Given the description of an element on the screen output the (x, y) to click on. 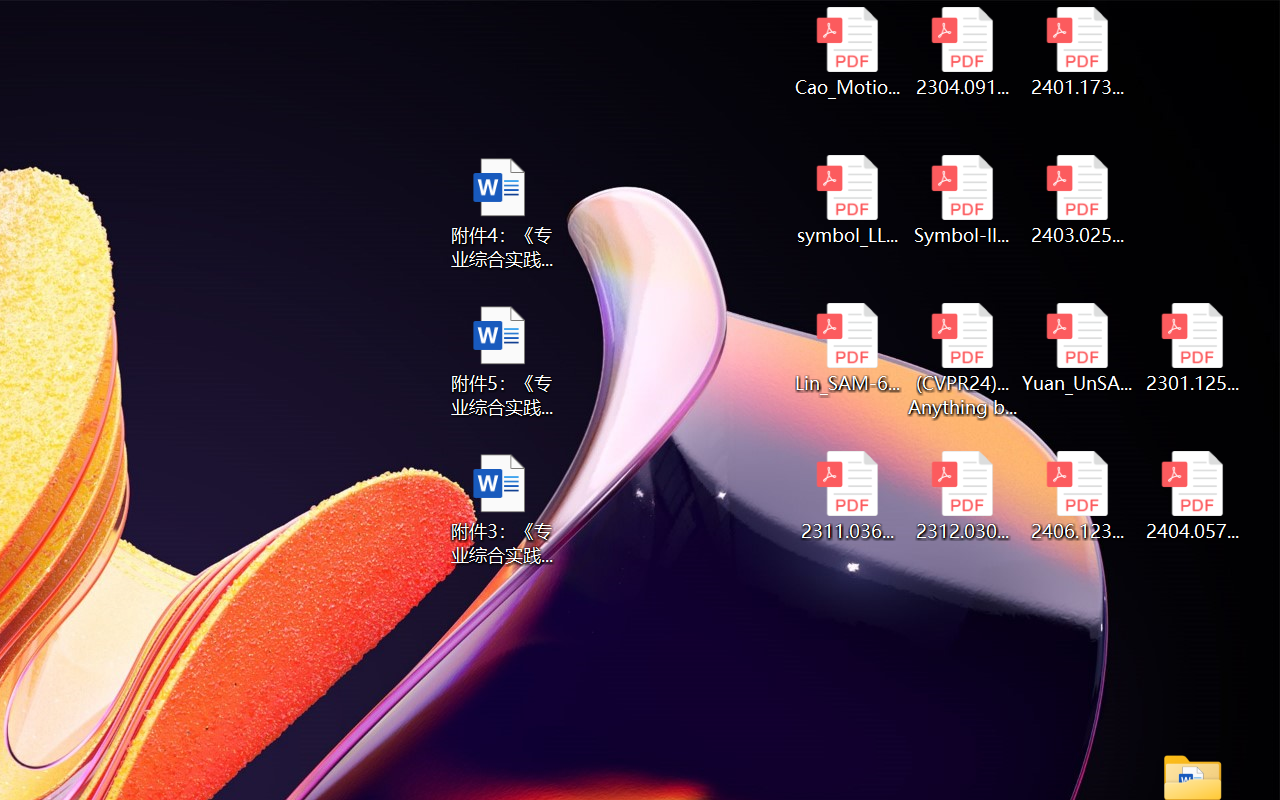
2406.12373v2.pdf (1077, 496)
Symbol-llm-v2.pdf (962, 200)
2401.17399v1.pdf (1077, 52)
2301.12597v3.pdf (1192, 348)
2311.03658v2.pdf (846, 496)
(CVPR24)Matching Anything by Segmenting Anything.pdf (962, 360)
symbol_LLM.pdf (846, 200)
2404.05719v1.pdf (1192, 496)
2403.02502v1.pdf (1077, 200)
2312.03032v2.pdf (962, 496)
